Given the description of an element on the screen output the (x, y) to click on. 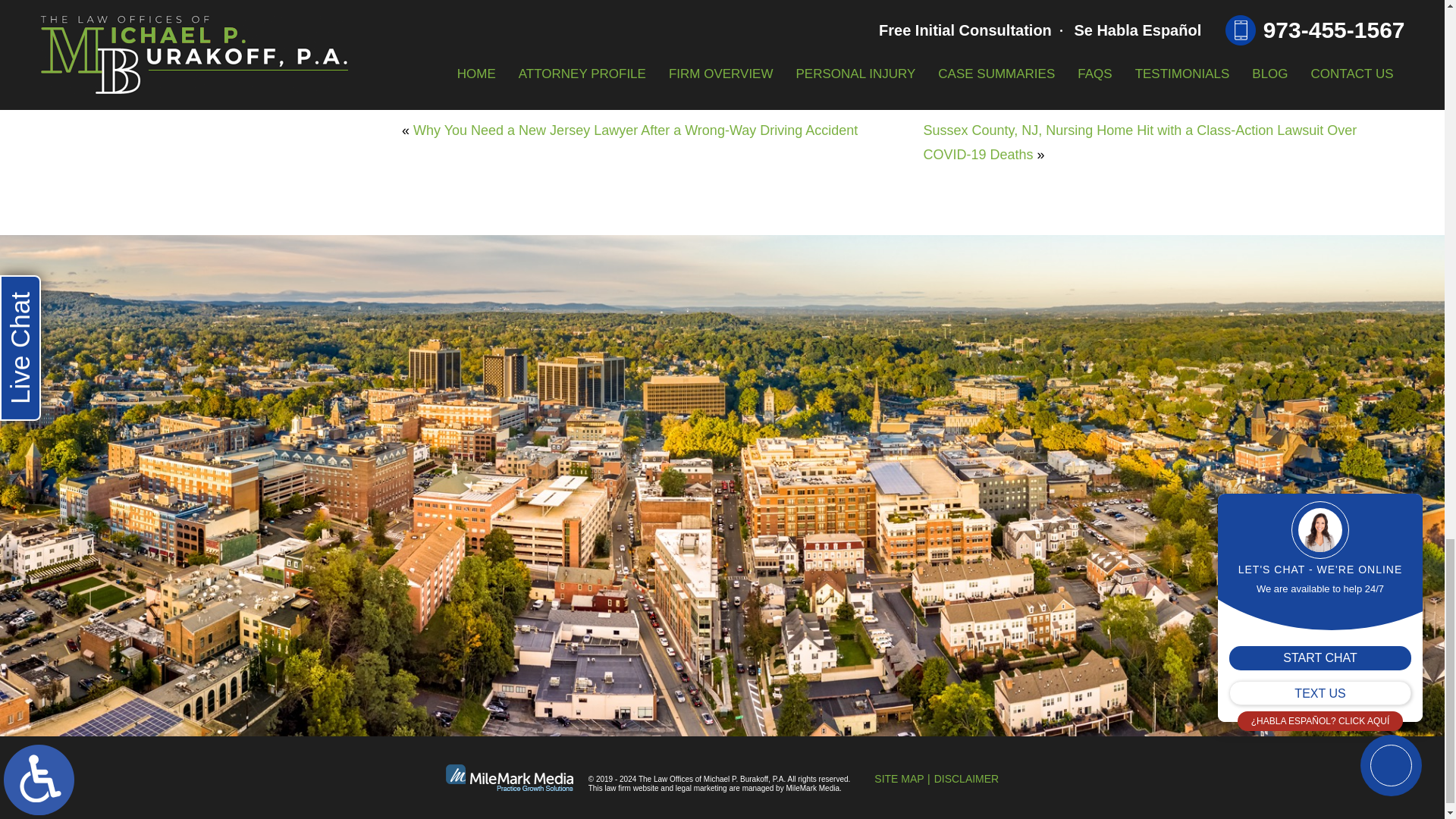
2020-06-18T03:00:11-0700 (631, 98)
Twitter (436, 66)
Facebook (425, 66)
LinkedIn (447, 66)
